Given the description of an element on the screen output the (x, y) to click on. 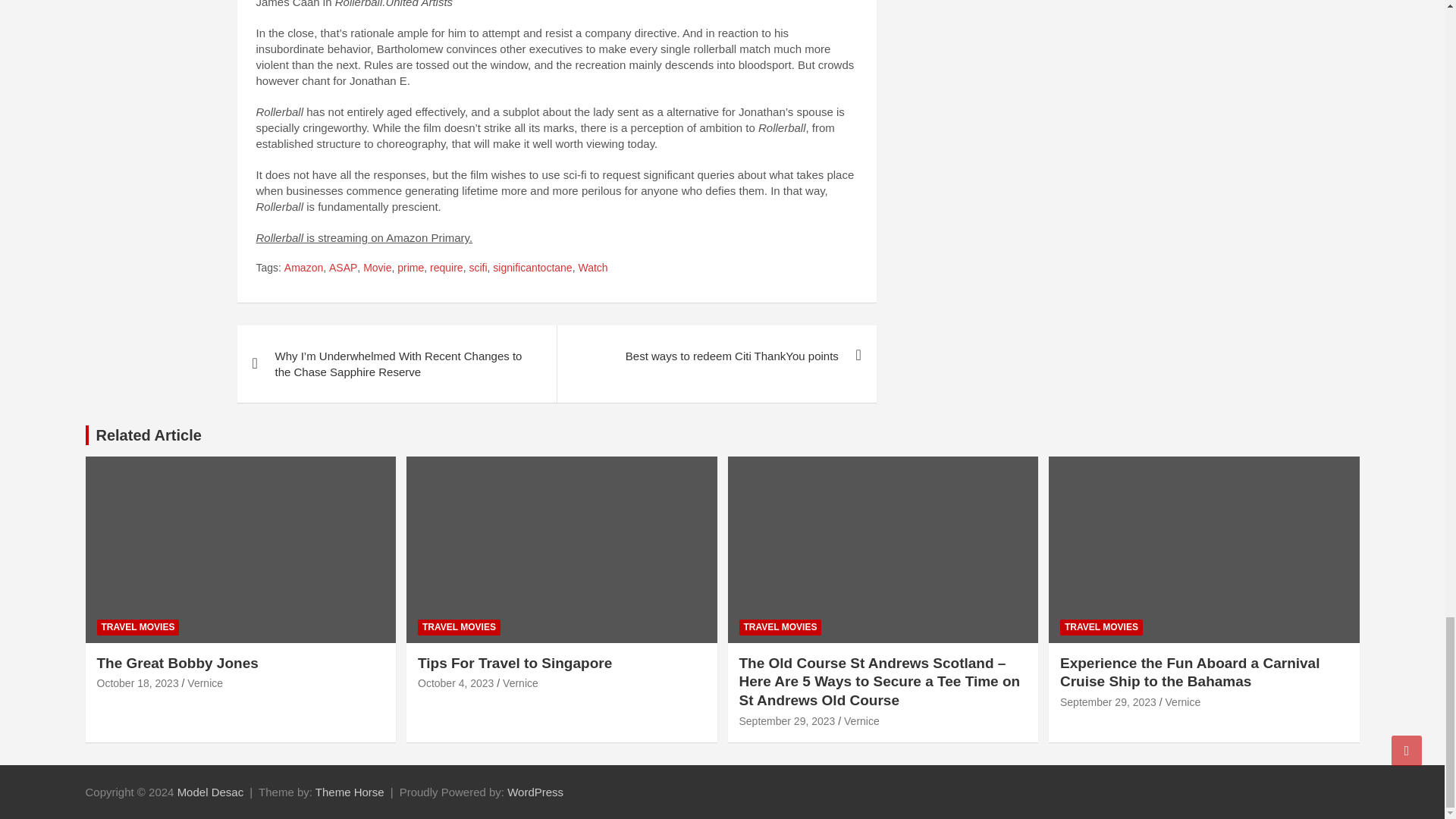
Movie (376, 268)
Model Desac (210, 791)
Theme Horse (349, 791)
scifi (477, 268)
Watch (592, 268)
ASAP (342, 268)
require (446, 268)
Best ways to redeem Citi ThankYou points (716, 355)
significantoctane (532, 268)
